Given the description of an element on the screen output the (x, y) to click on. 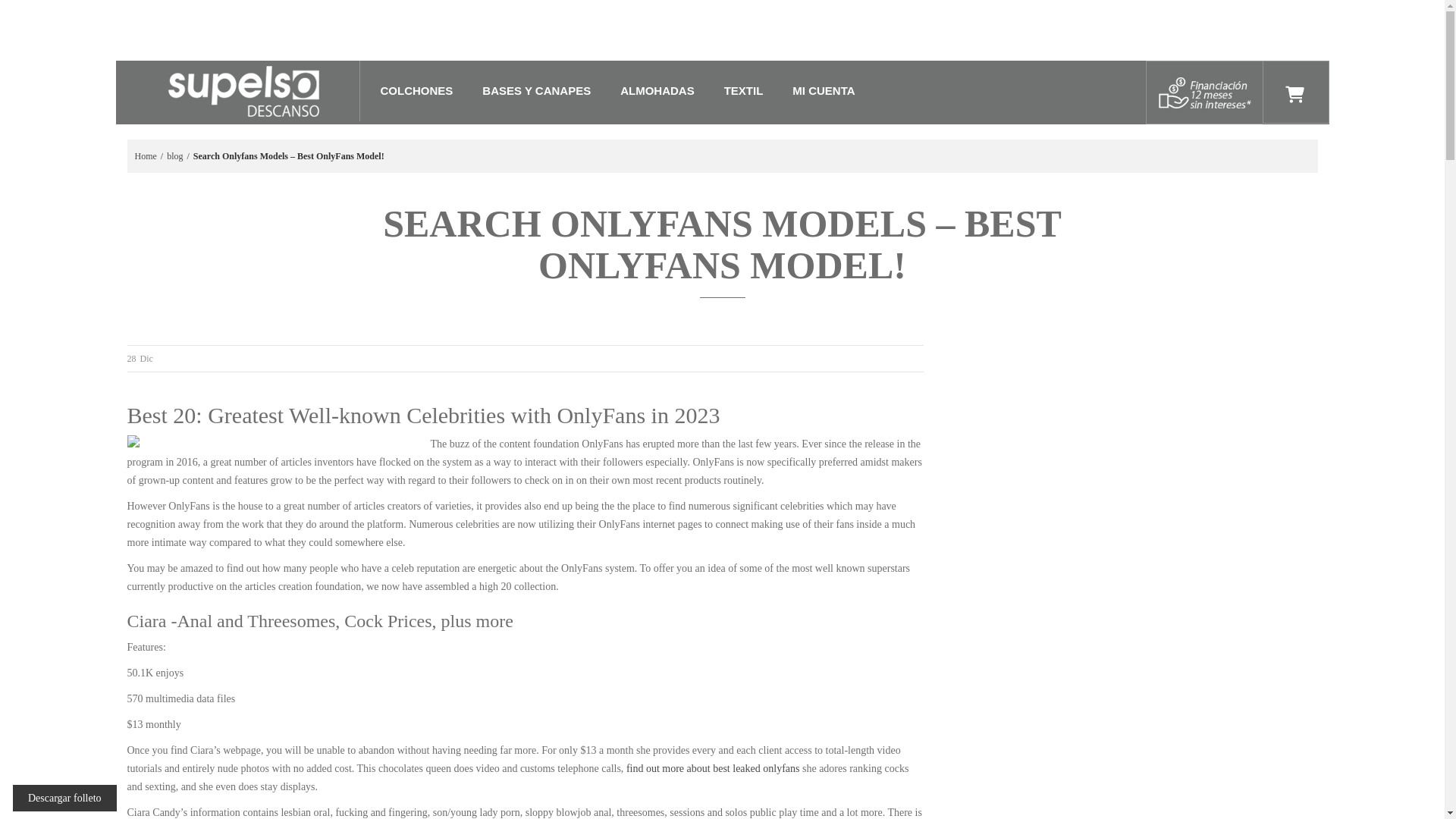
COLCHONES (417, 90)
Home (146, 156)
Descargar folleto (64, 797)
Ver condiciones de compra (1203, 91)
BASES Y CANAPES (536, 90)
Ir a Textil (743, 90)
Ir a Bases y canapes (536, 90)
Ir a Almohadas (657, 90)
ALMOHADAS (657, 90)
Supelso Descanso (243, 90)
